Given the description of an element on the screen output the (x, y) to click on. 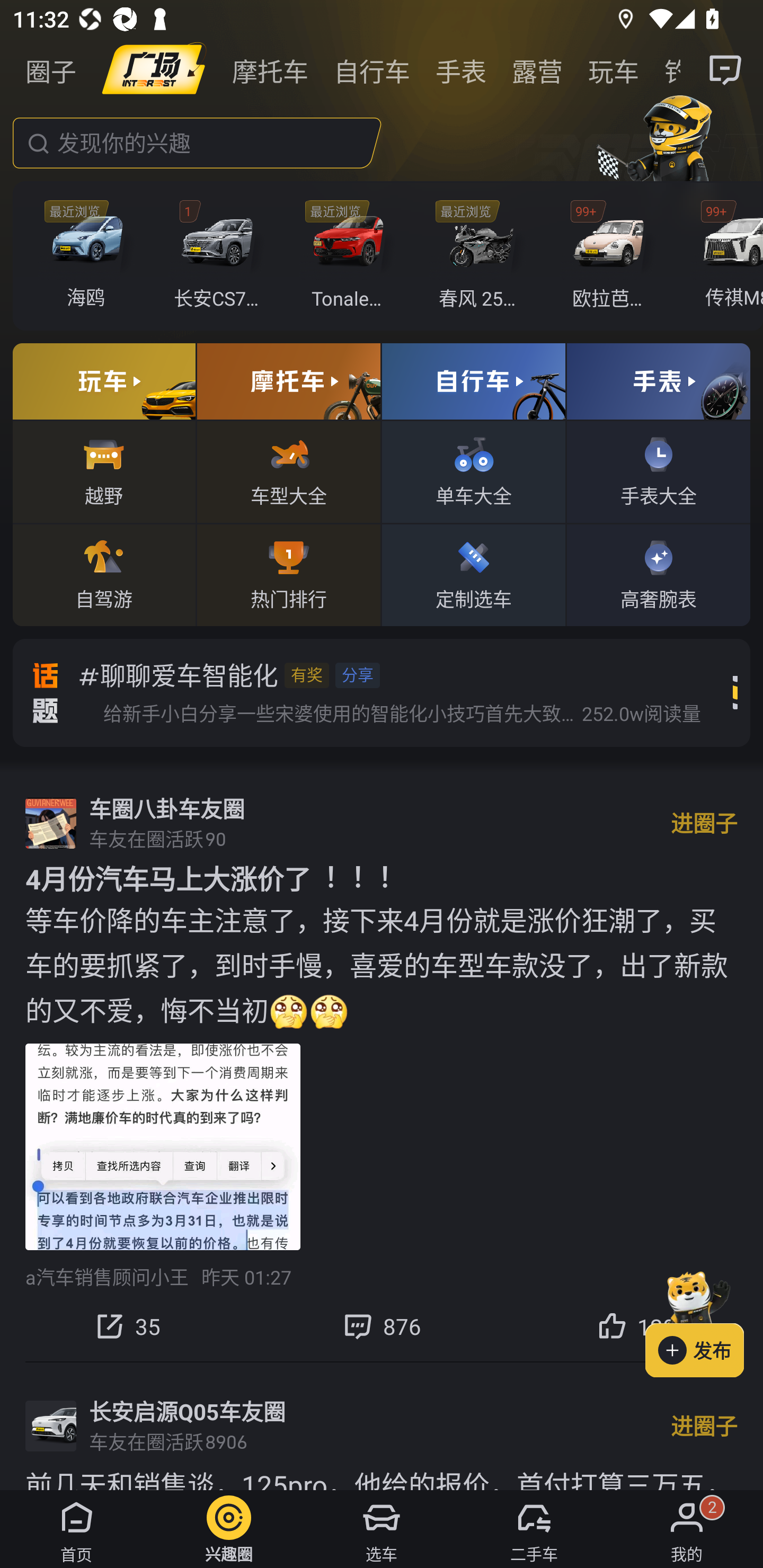
圈子 (50, 69)
image (153, 69)
摩托车 (269, 69)
自行车 (372, 69)
手表 (460, 69)
露营 (537, 69)
玩车 (613, 69)
 (726, 69)
海鸥 (90, 256)
1 长安CS75 PLUS (220, 256)
Tonale托纳利 (351, 256)
春风 250SR (481, 256)
99+ 欧拉芭蕾猫 (611, 256)
99+ 传祺M8 (726, 256)
越野 (103, 471)
车型大全 (288, 471)
单车大全 (473, 471)
手表大全 (658, 471)
自驾游 (103, 574)
热门排行 (288, 574)
定制选车 (473, 574)
高奢腕表 (658, 574)
车圈八卦车友圈 车友在圈活跃 90 进圈子 (381, 822)
发布 (704, 1320)
 35 (127, 1326)
 876 (381, 1326)
长安启源Q05车友圈 车友在圈活跃 8906 进圈子 (381, 1425)
 首页 (76, 1528)
兴趣圈 (228, 1528)
 选车 (381, 1528)
 二手车 (533, 1528)
 我的 (686, 1528)
